Given the description of an element on the screen output the (x, y) to click on. 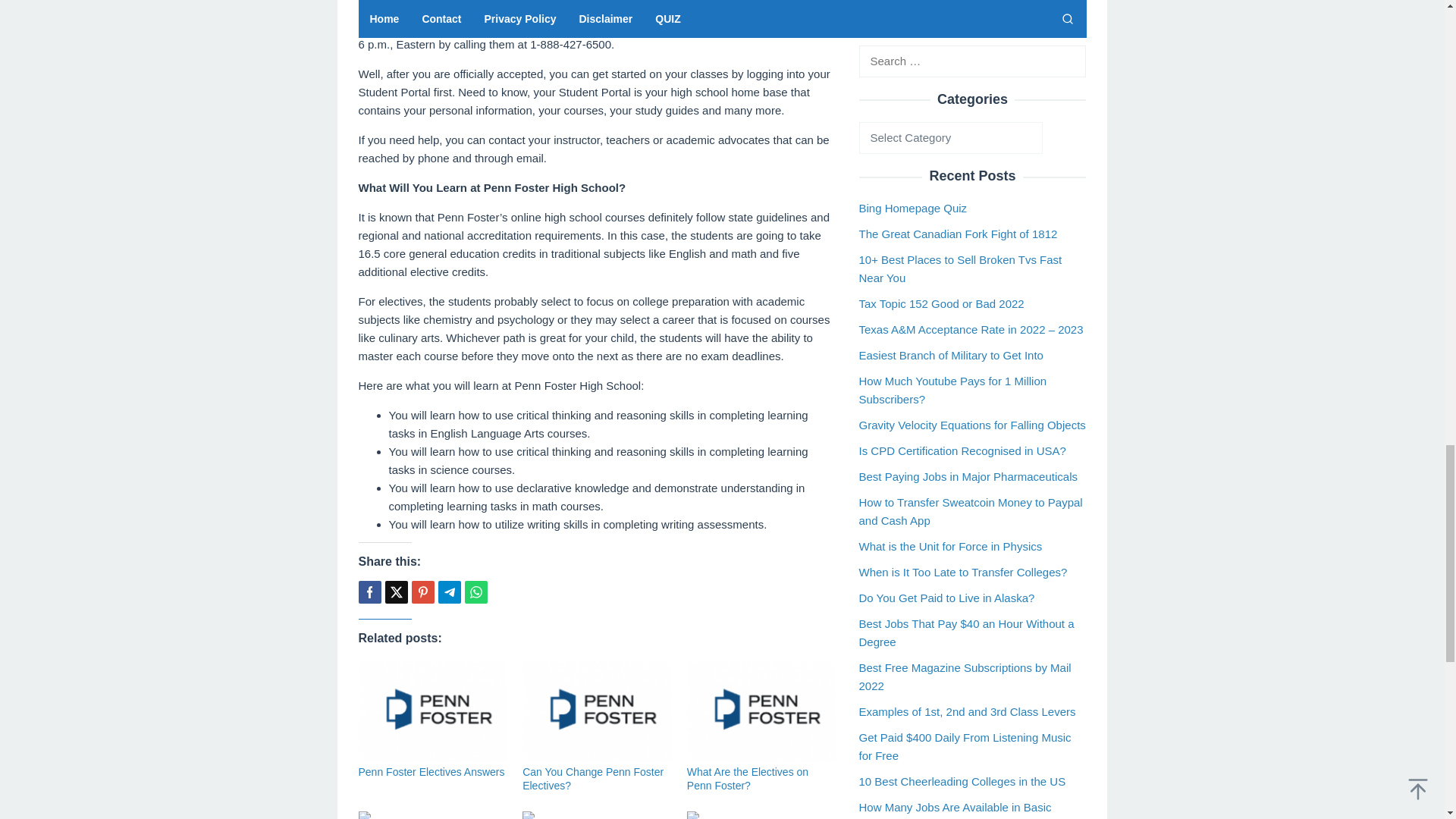
What Are the Electives on Penn Foster? (747, 778)
Permalink to: Can You Change Penn Foster Electives? (592, 778)
Penn Foster Electives Answers (430, 771)
Share this (369, 591)
Whatsapp (475, 591)
Pin this (421, 591)
Permalink to: Penn Foster Electives Answers (430, 771)
Tweet this (396, 591)
Permalink to: Penn Foster Electives Answers (432, 710)
Permalink to: Can You Change Penn Foster Electives? (596, 710)
Can You Change Penn Foster Electives? (592, 778)
Telegram Share (449, 591)
